Given the description of an element on the screen output the (x, y) to click on. 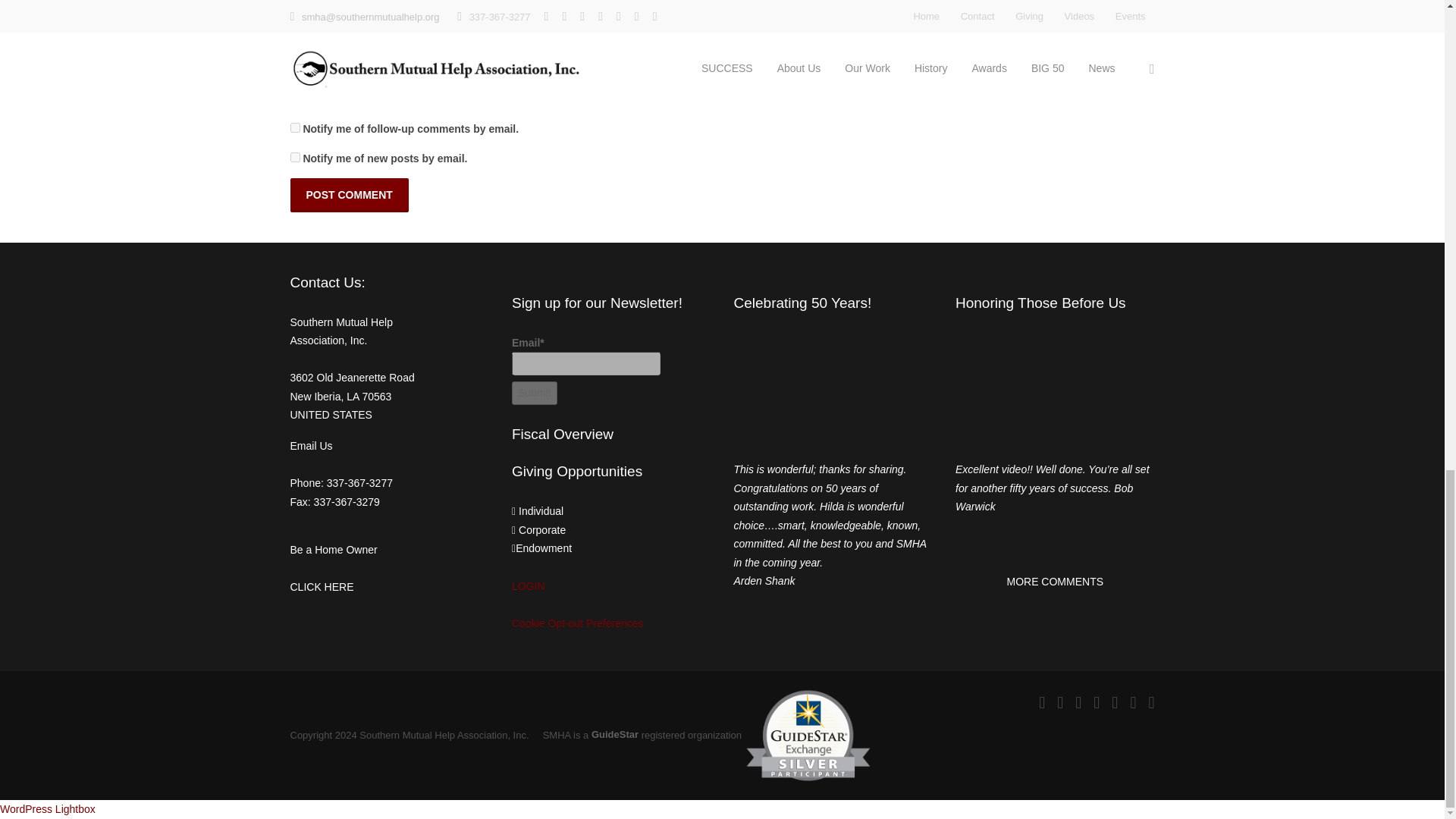
Submit (534, 392)
subscribe (294, 127)
vimeo-player (833, 390)
WordPress Lightbox (48, 808)
yes (294, 90)
subscribe (294, 157)
Post Comment (348, 195)
